Given the description of an element on the screen output the (x, y) to click on. 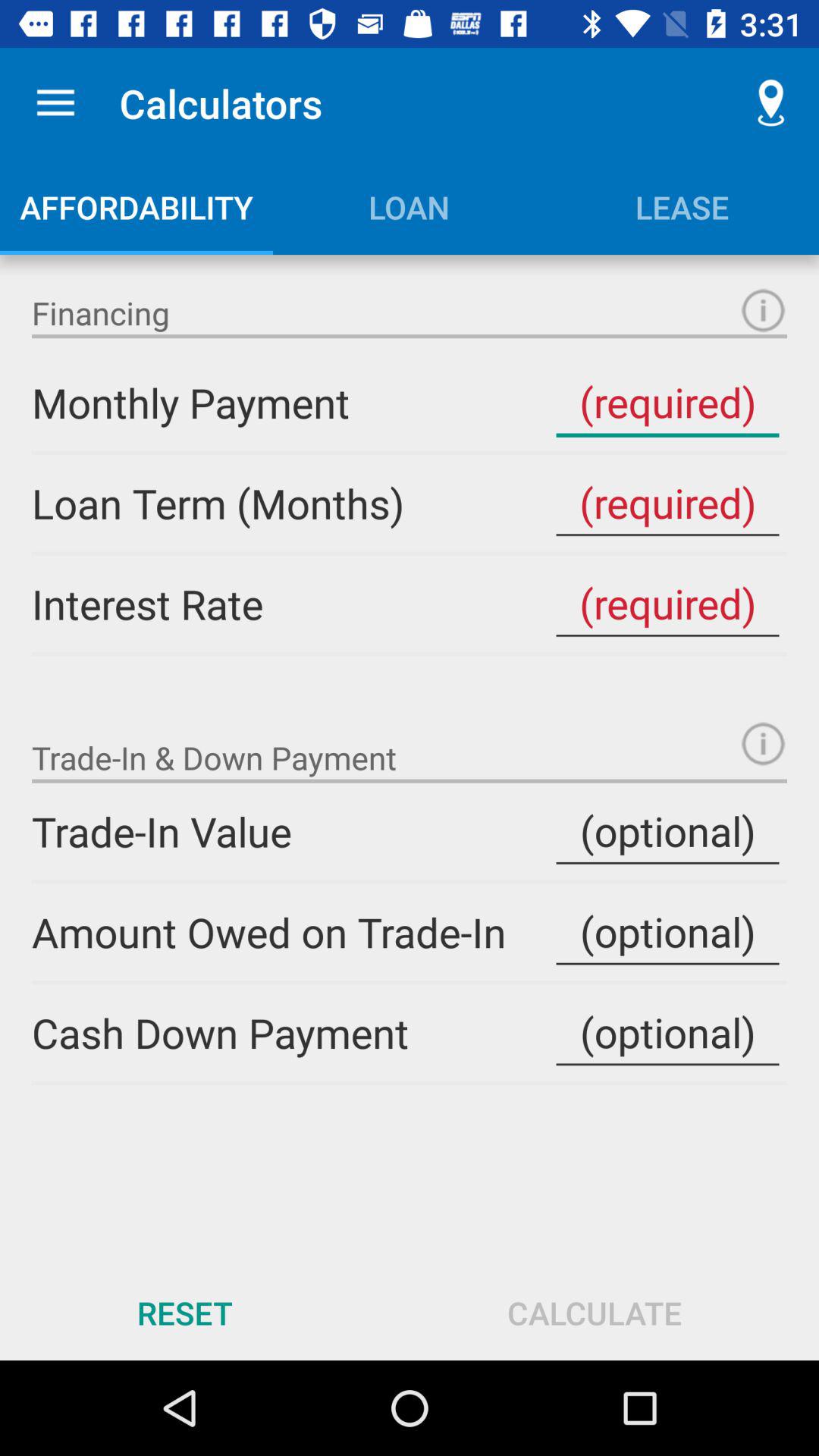
tap reset at the bottom left corner (184, 1312)
